Given the description of an element on the screen output the (x, y) to click on. 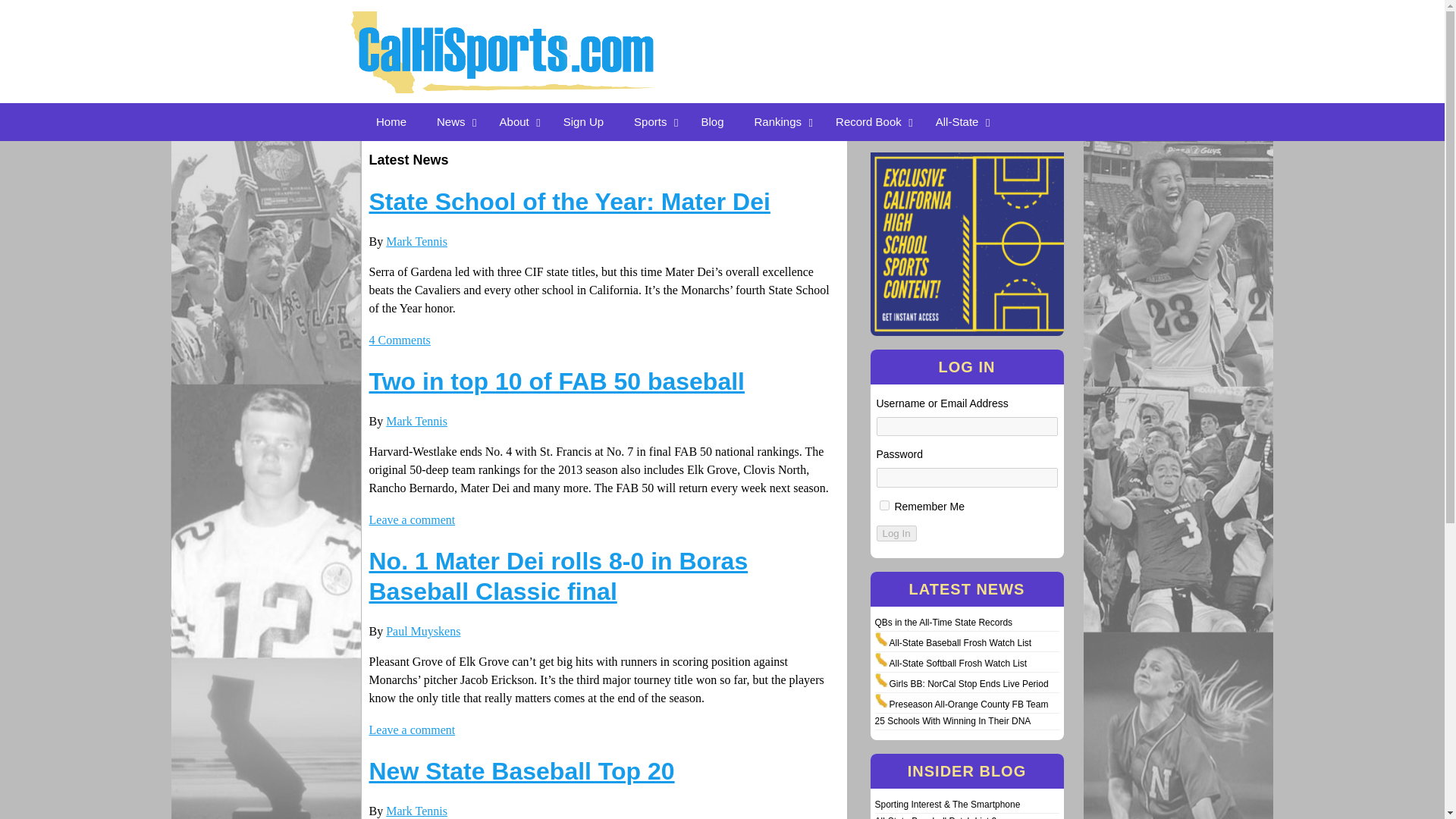
Permalink to 25 Schools With Winning In Their DNA (952, 720)
Permalink to All-State Baseball Patch List 2 (936, 817)
Sign Up (583, 121)
News (453, 121)
Permalink to All-State Baseball Frosh Watch List (959, 643)
View all posts by Mark Tennis (415, 241)
Permalink to QBs in the All-Time State Records (944, 622)
Sports (651, 121)
Permalink to Preseason All-Orange County FB Team (968, 704)
Record Book (870, 121)
View all posts by Mark Tennis (415, 420)
Permalink to Two in top 10 of FAB 50 baseball (556, 380)
forever (884, 505)
Rankings (779, 121)
